Given the description of an element on the screen output the (x, y) to click on. 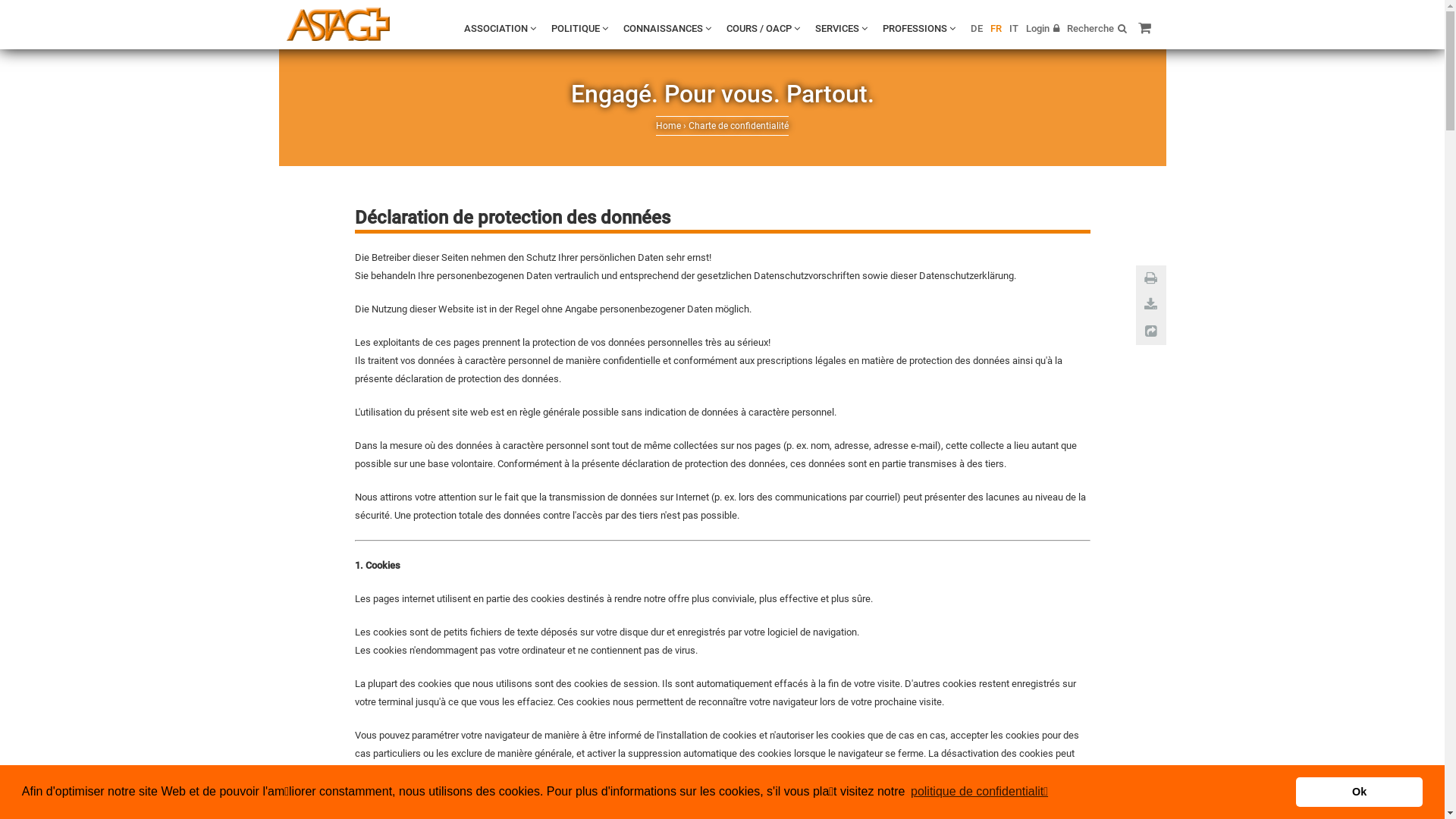
SERVICES Element type: text (840, 27)
COURS / OACP Element type: text (763, 27)
Drucken Element type: hover (1150, 278)
Home Element type: text (667, 125)
PROFESSIONS Element type: text (918, 27)
Als PDF herunterladen Element type: hover (1150, 304)
CONNAISSANCES Element type: text (667, 27)
Ok Element type: text (1358, 791)
Astag | Homepage Element type: hover (337, 23)
ASSOCIATION Element type: text (500, 27)
DE Element type: text (976, 27)
Login Element type: text (1041, 27)
FR Element type: text (995, 27)
IT Element type: text (1012, 27)
POLITIQUE Element type: text (578, 27)
Per E-Mail teilen Element type: hover (1150, 331)
Recherche Element type: text (1096, 27)
